Given the description of an element on the screen output the (x, y) to click on. 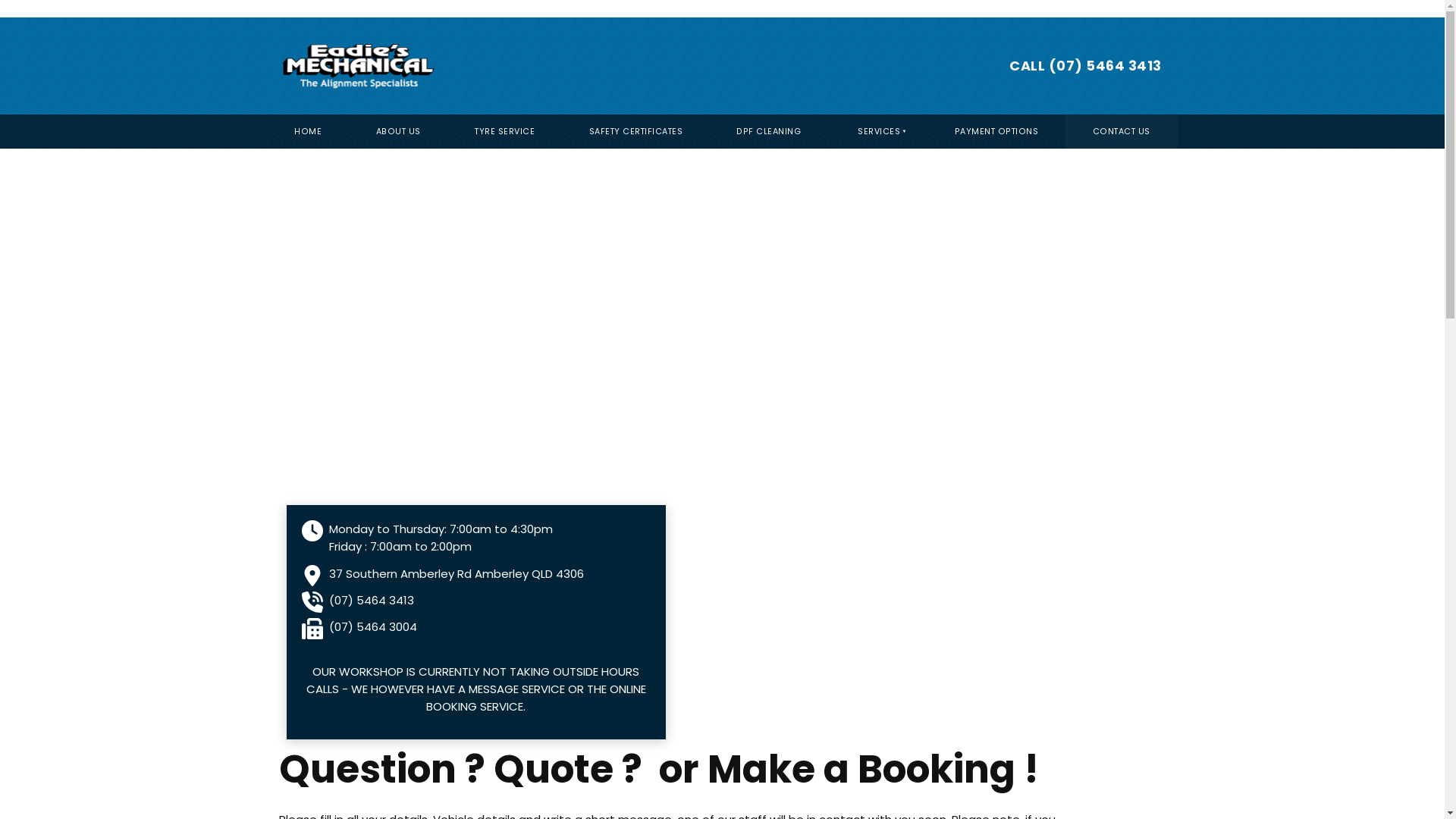
HOME Element type: text (307, 131)
DPF CLEANING Element type: text (768, 131)
TYRE SERVICE Element type: text (504, 131)
CONTACT US Element type: text (1120, 131)
(07) 5464 3413 Element type: text (371, 600)
SERVICES Element type: text (877, 131)
SAFETY CERTIFICATES Element type: text (635, 131)
(07) 5464 3004 Element type: text (373, 626)
PAYMENT OPTIONS Element type: text (996, 131)
CALL (07) 5464 3413 Element type: text (1085, 66)
ABOUT US Element type: text (397, 131)
